Given the description of an element on the screen output the (x, y) to click on. 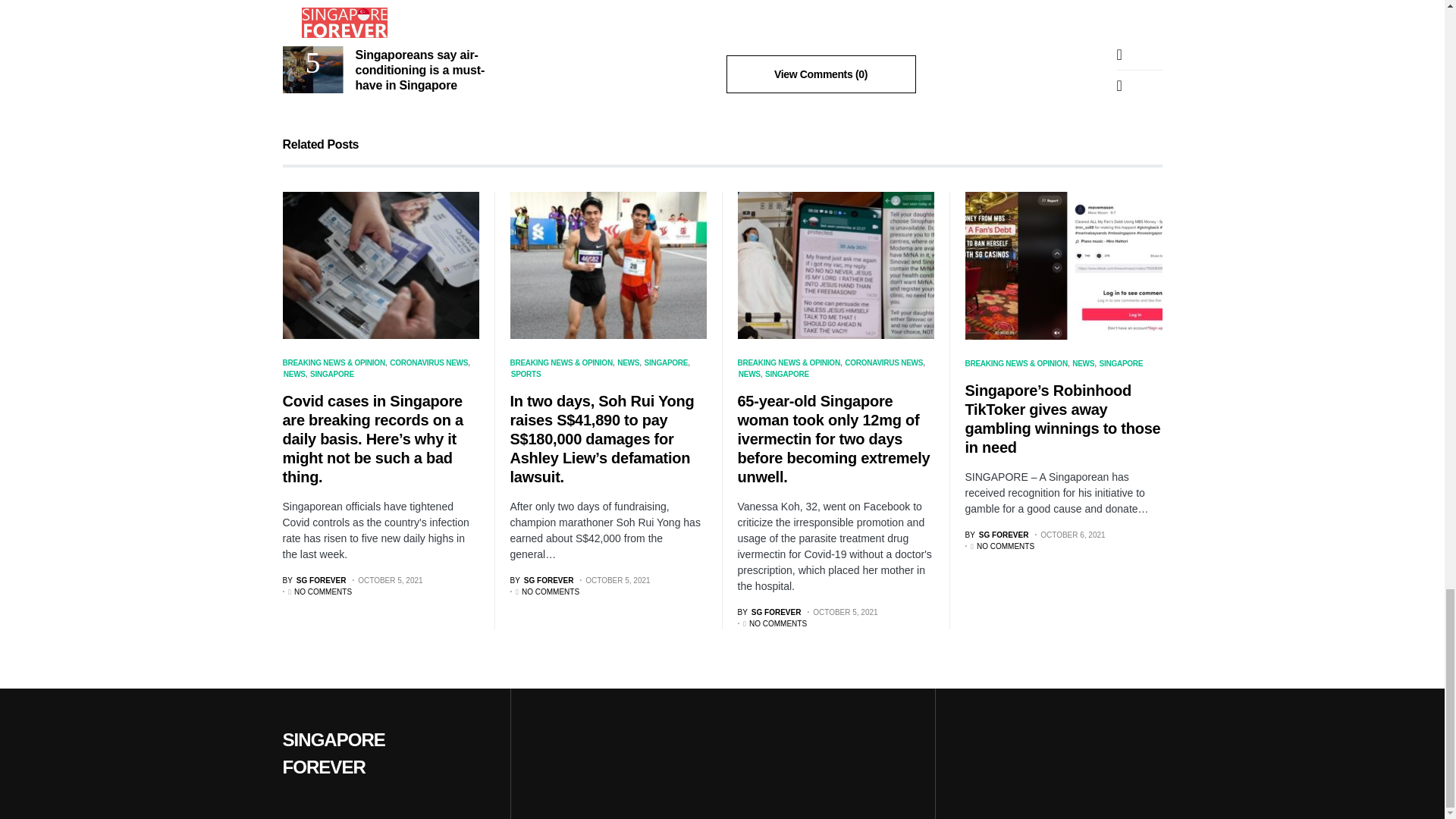
View all posts by SG Forever (768, 612)
View all posts by SG Forever (541, 580)
View all posts by SG Forever (314, 580)
